Given the description of an element on the screen output the (x, y) to click on. 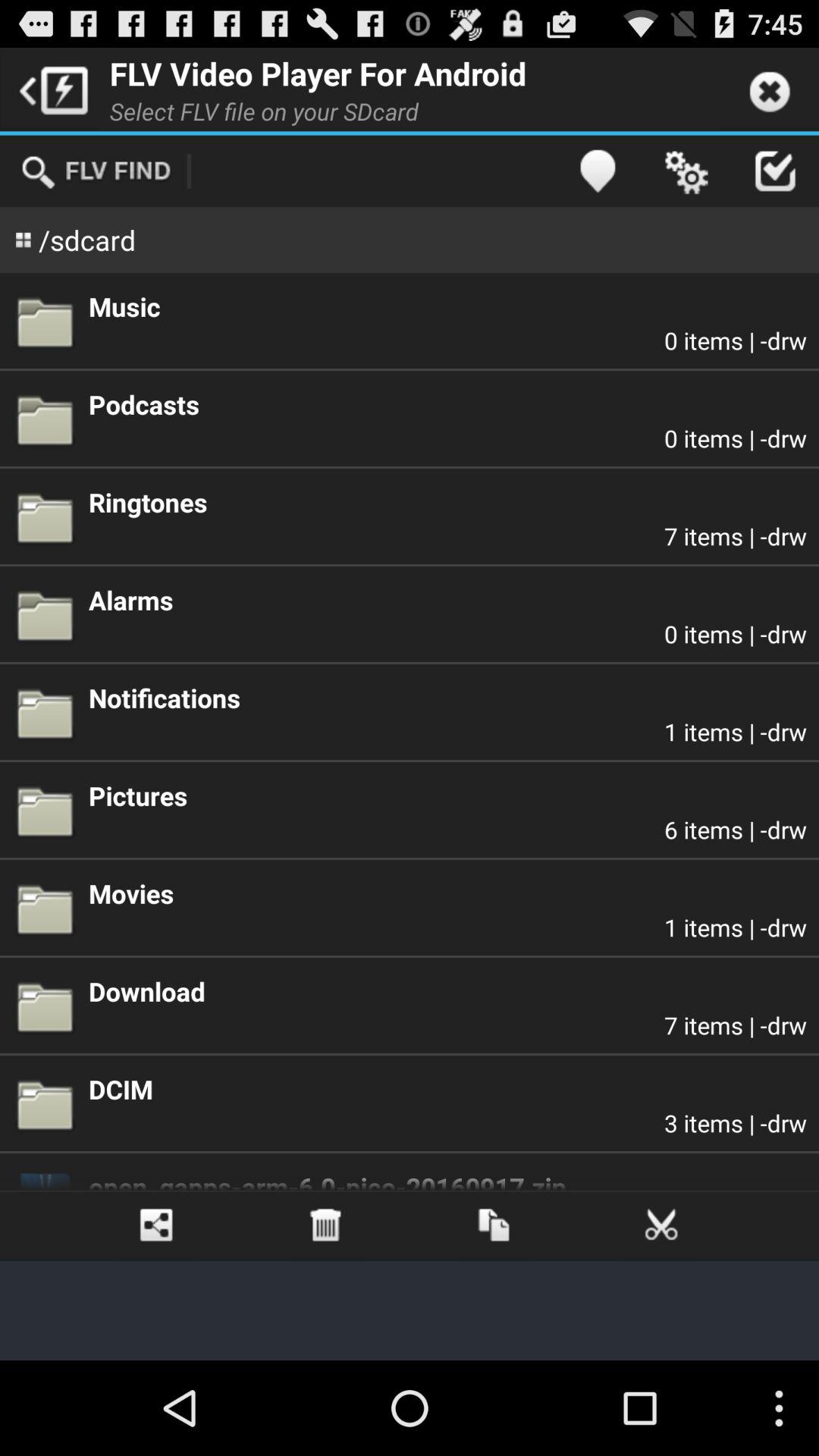
launch the icon to the right of the select flv file item (596, 171)
